Given the description of an element on the screen output the (x, y) to click on. 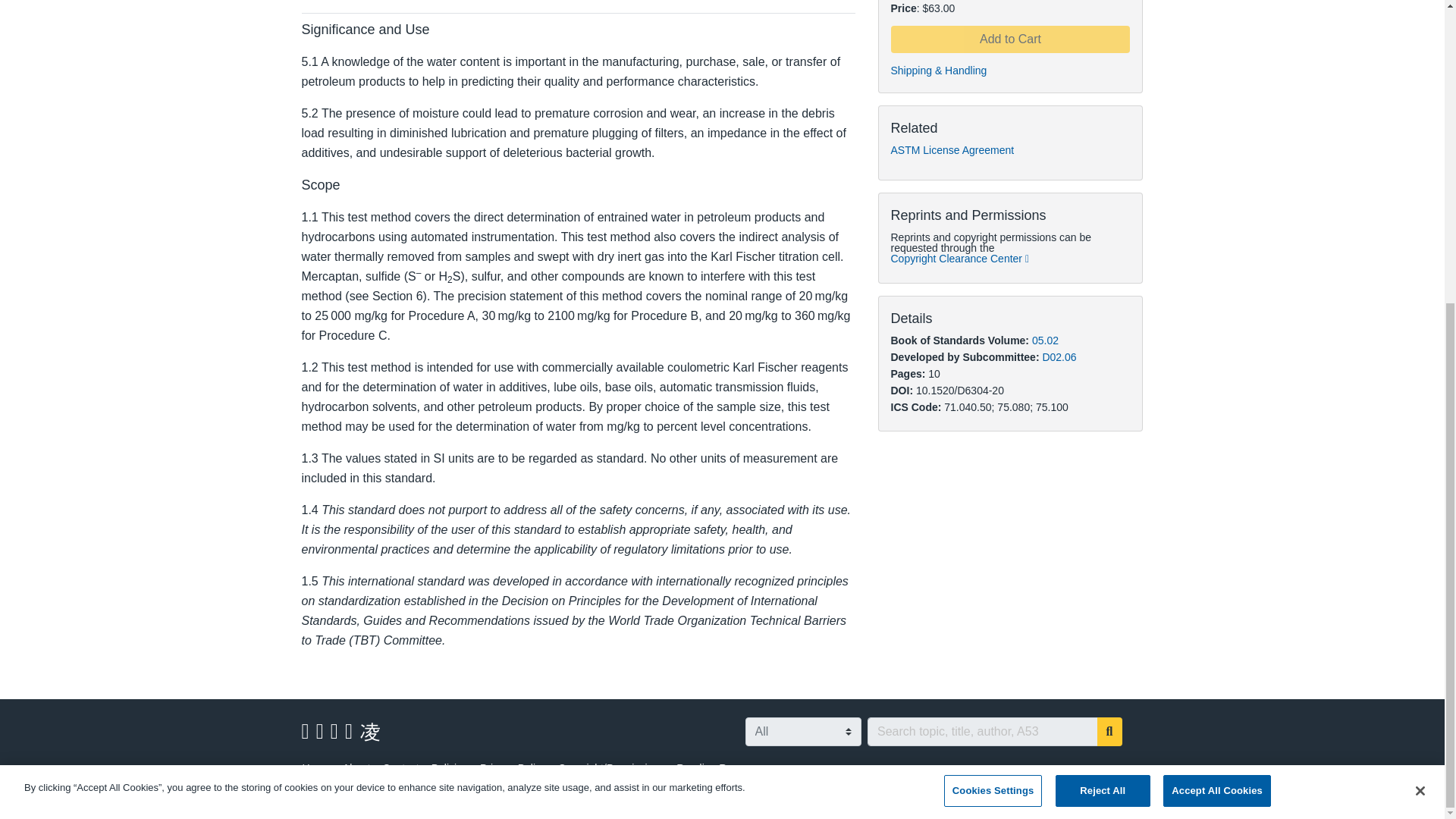
Add to Cart (1009, 39)
